Given the description of an element on the screen output the (x, y) to click on. 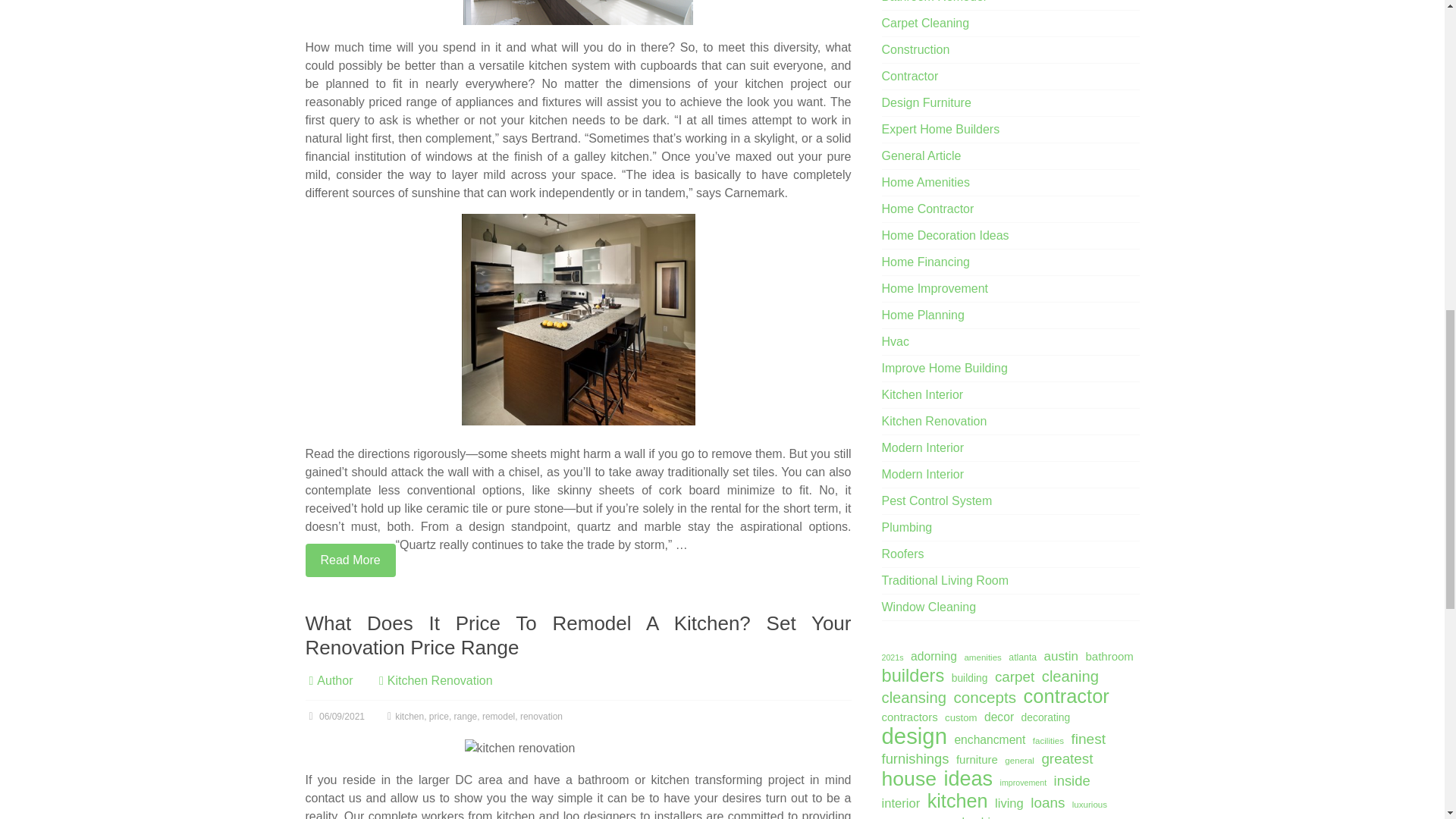
Read More (349, 560)
Author (334, 680)
00:47 (334, 716)
Author (334, 680)
